Given the description of an element on the screen output the (x, y) to click on. 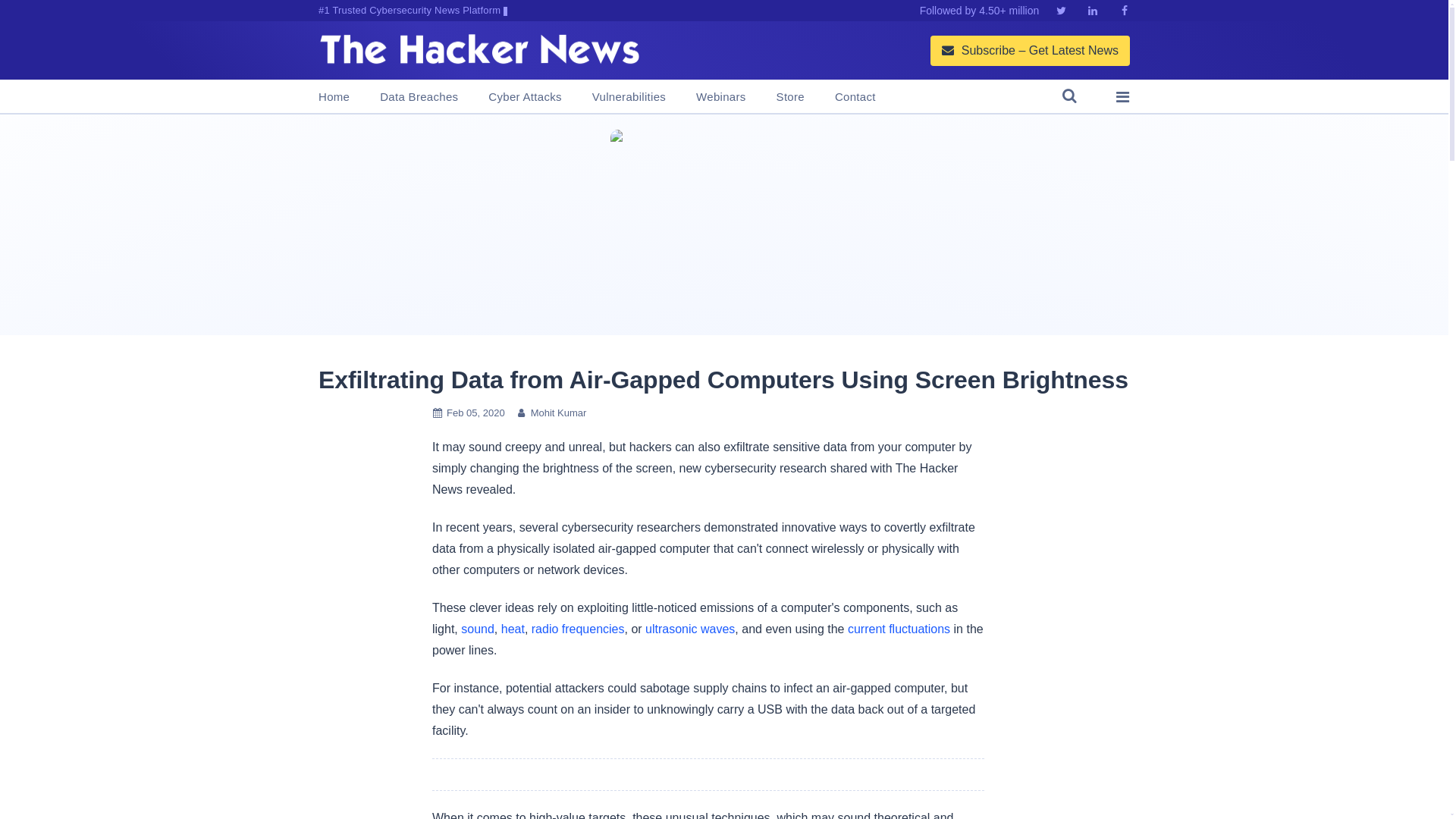
Webinars (720, 96)
sound (478, 628)
Vulnerabilities (628, 96)
Cyber Attacks (523, 96)
Home (333, 96)
Data Breaches (419, 96)
radio frequencies (577, 628)
